Given the description of an element on the screen output the (x, y) to click on. 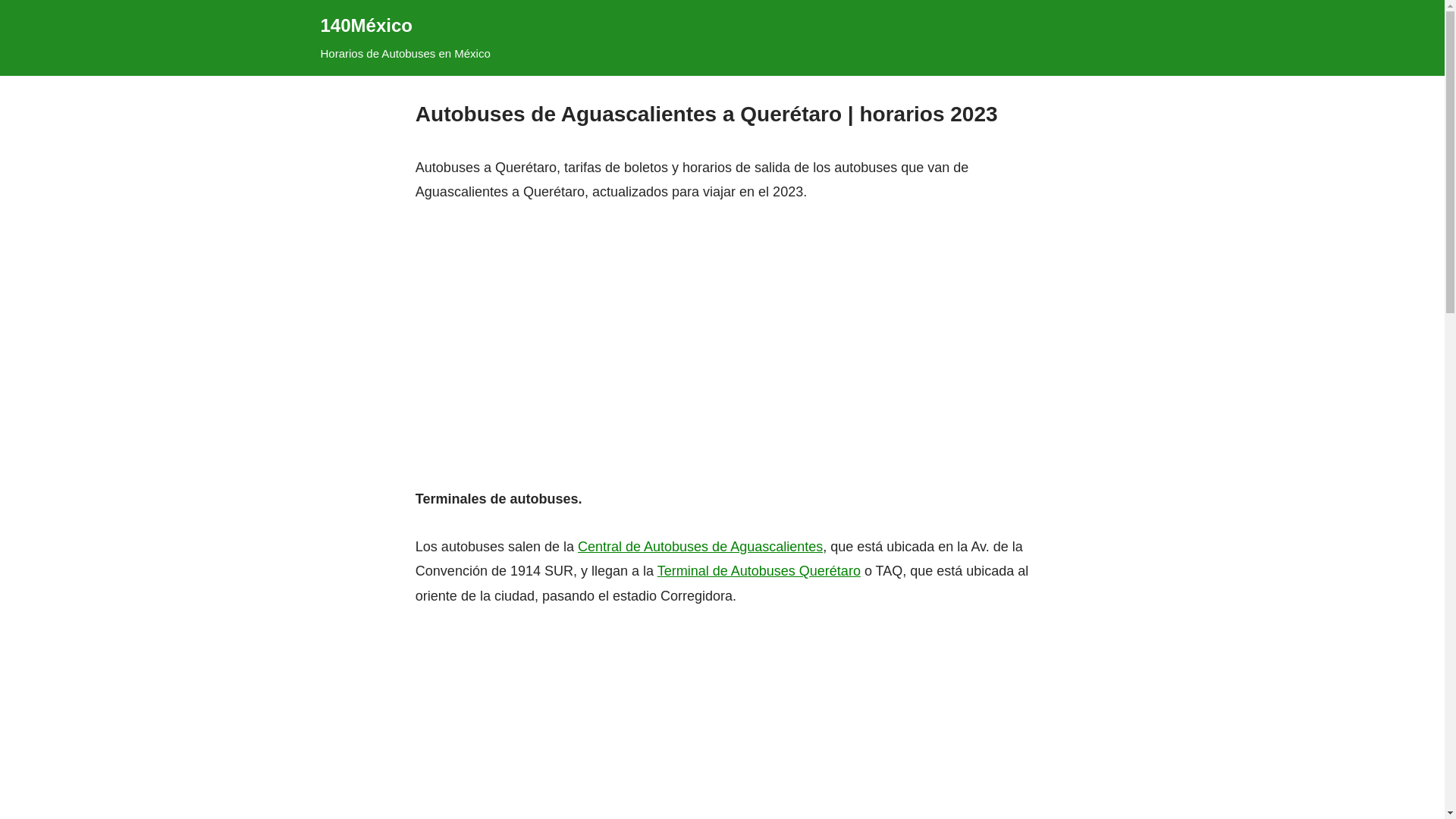
Central de Autobuses de Aguascalientes Element type: text (699, 546)
Advertisement Element type: hover (721, 322)
Saltar al contenido Element type: text (11, 31)
